Given the description of an element on the screen output the (x, y) to click on. 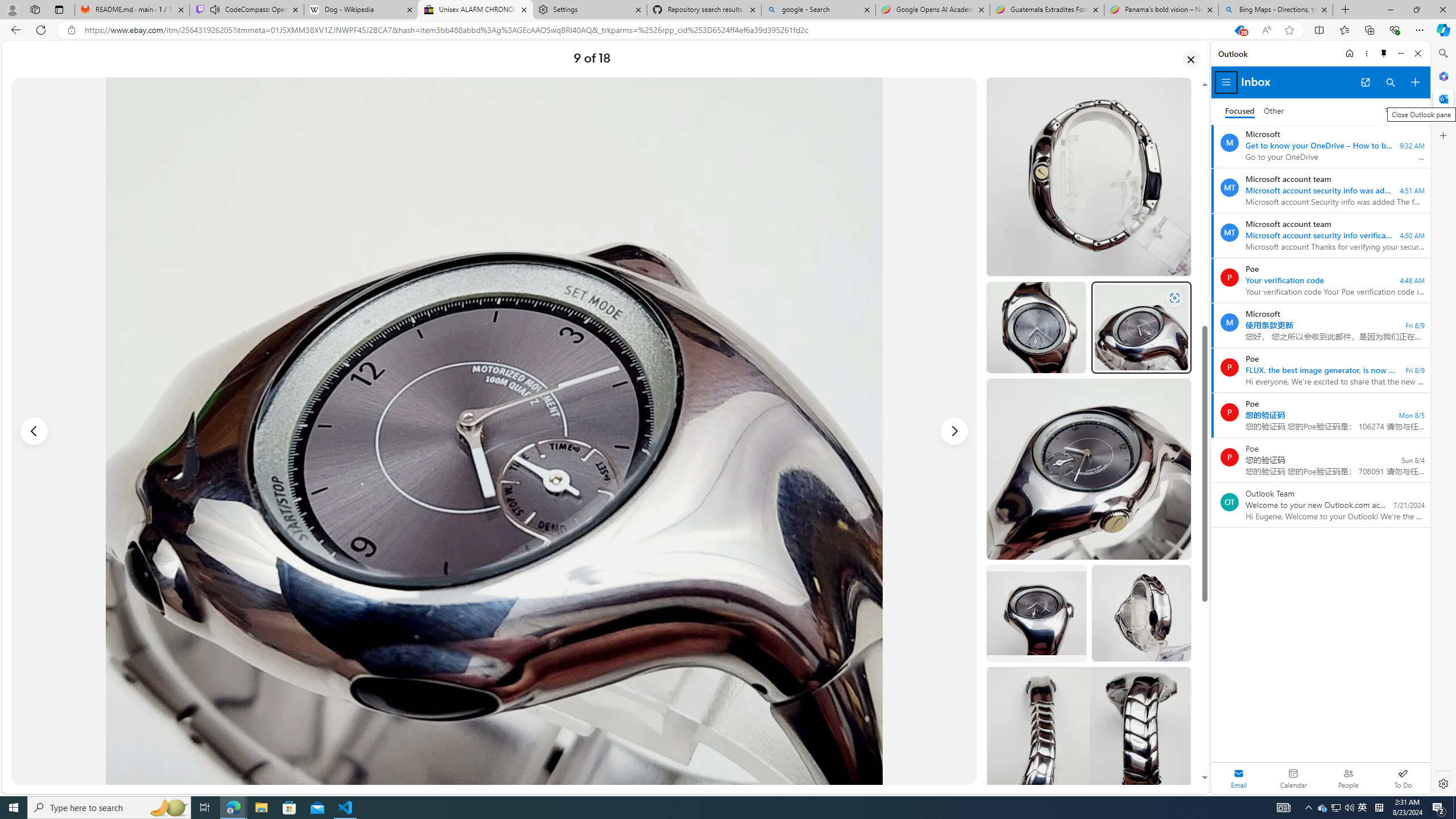
Other (1273, 110)
Focused (1239, 110)
